Given the description of an element on the screen output the (x, y) to click on. 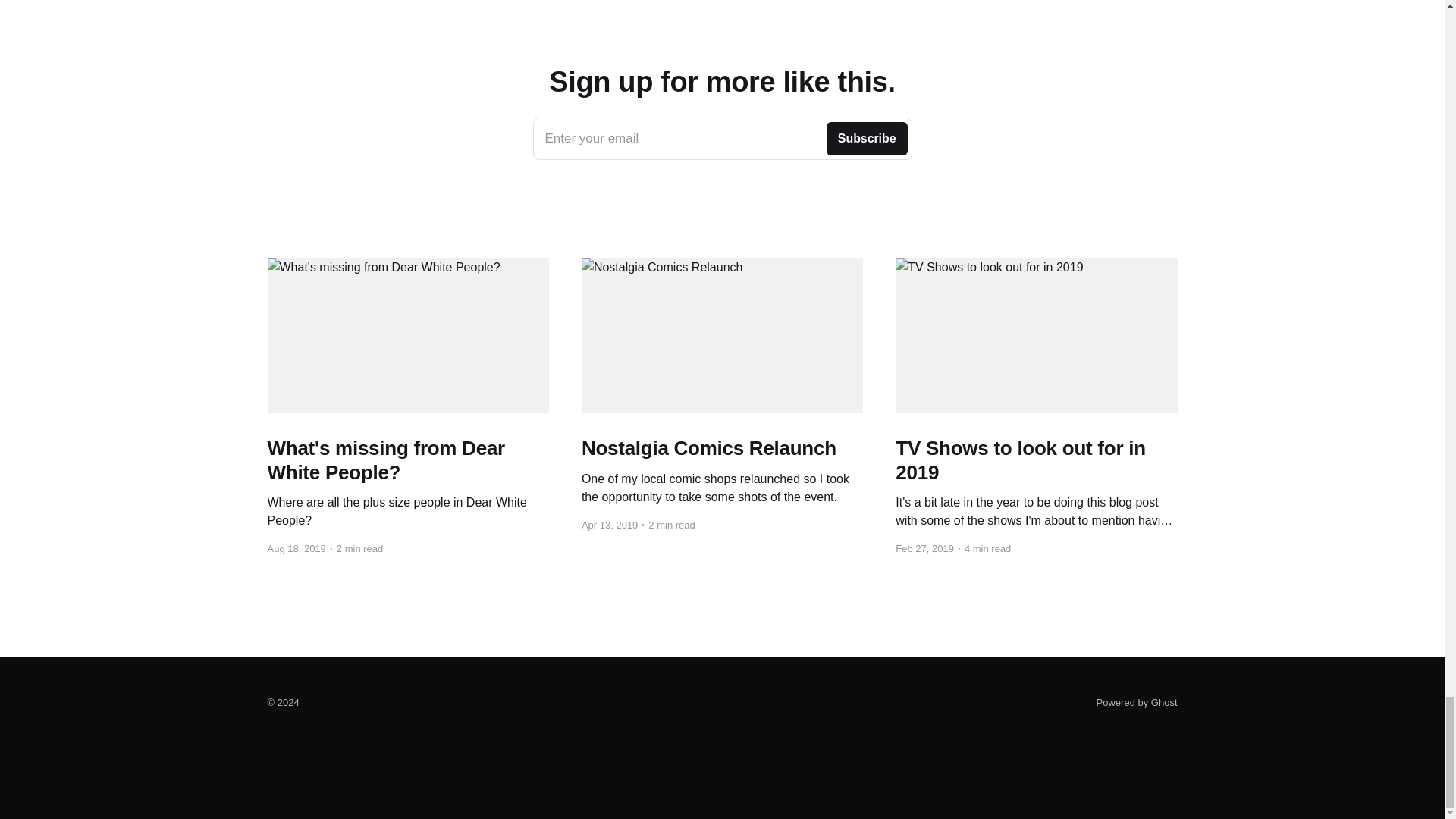
Powered by Ghost (1136, 702)
